Given the description of an element on the screen output the (x, y) to click on. 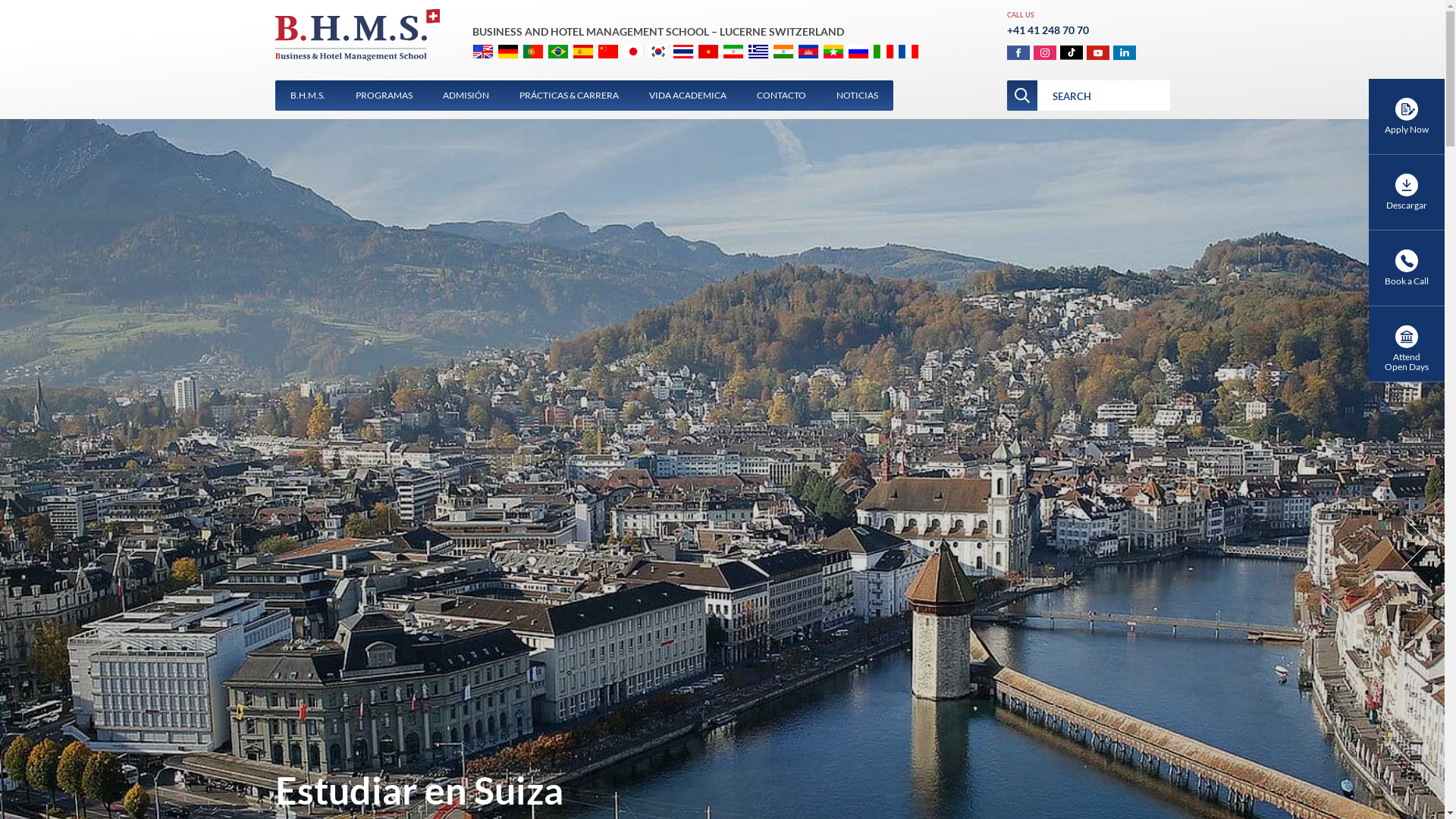
Submit Element type: text (1022, 95)
BHMS - Italy Element type: hover (893, 58)
+41 41 248 70 70 Element type: text (1047, 29)
Next Element type: text (1402, 541)
BHMS - German Element type: hover (516, 58)
CONTACTO Element type: text (781, 95)
Attend Open Days Element type: text (1406, 344)
BHMS - Greek Element type: hover (767, 58)
BHMS - Vietnam Element type: hover (717, 58)
BHMS - Indian Element type: hover (792, 58)
Book a Call Element type: text (1406, 268)
BHMS - Brasilian Element type: hover (566, 58)
BHMS - Portugis Element type: hover (542, 58)
BHMS - Korean Element type: hover (667, 58)
BHMS - Thai Element type: hover (692, 58)
VIDA ACADEMICA Element type: text (687, 95)
BHMS - Russian Element type: hover (867, 58)
BHMS - Cambodia Element type: hover (817, 58)
PROGRAMAS Element type: text (382, 95)
BHMS - Myanmar Element type: hover (842, 58)
Descargar Element type: text (1406, 192)
Apply Now Element type: text (1406, 116)
BHMS - Japanese Element type: hover (642, 58)
NOTICIAS Element type: text (856, 95)
BHMS - Arabic Element type: hover (742, 58)
BHMS - Chinese Element type: hover (617, 58)
Previous Element type: text (41, 541)
BHMS English Element type: hover (492, 58)
BHMS - Spanish Element type: hover (592, 58)
B.H.M.S. Element type: text (306, 95)
BHMS - France Element type: hover (917, 58)
